Given the description of an element on the screen output the (x, y) to click on. 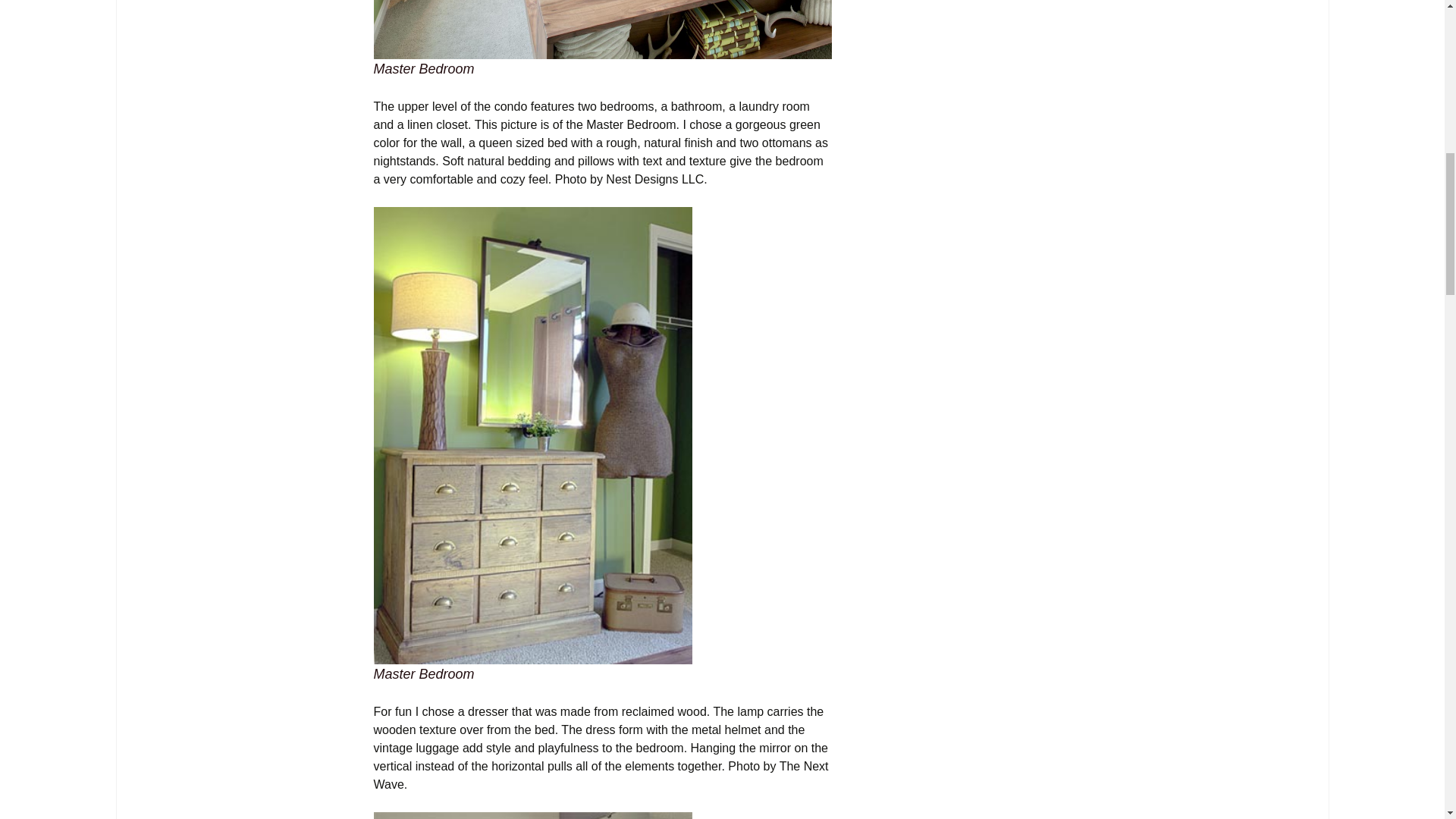
Master Bedroom  (601, 29)
Bathroom (531, 815)
